Given the description of an element on the screen output the (x, y) to click on. 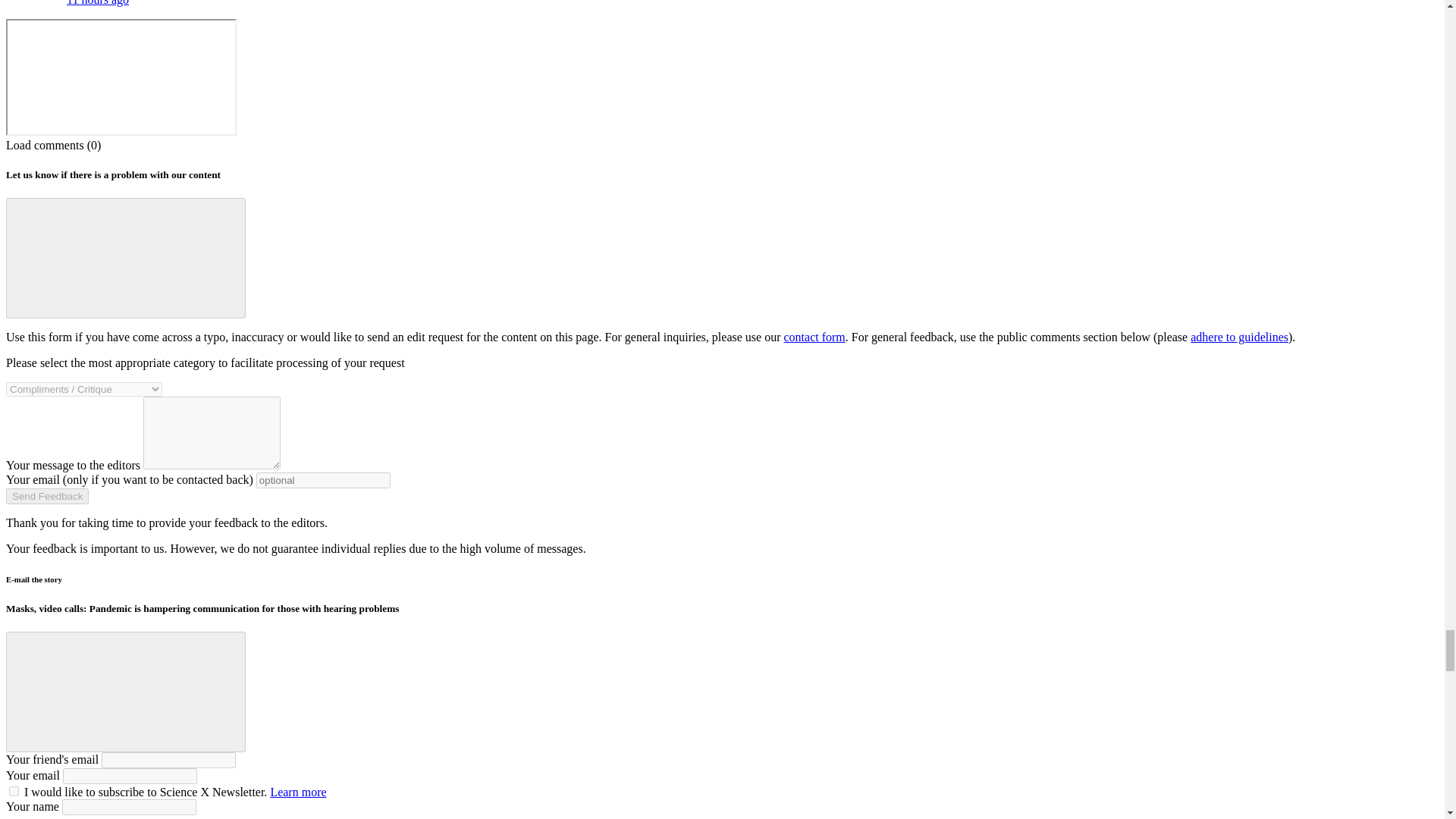
1 (13, 791)
